Given the description of an element on the screen output the (x, y) to click on. 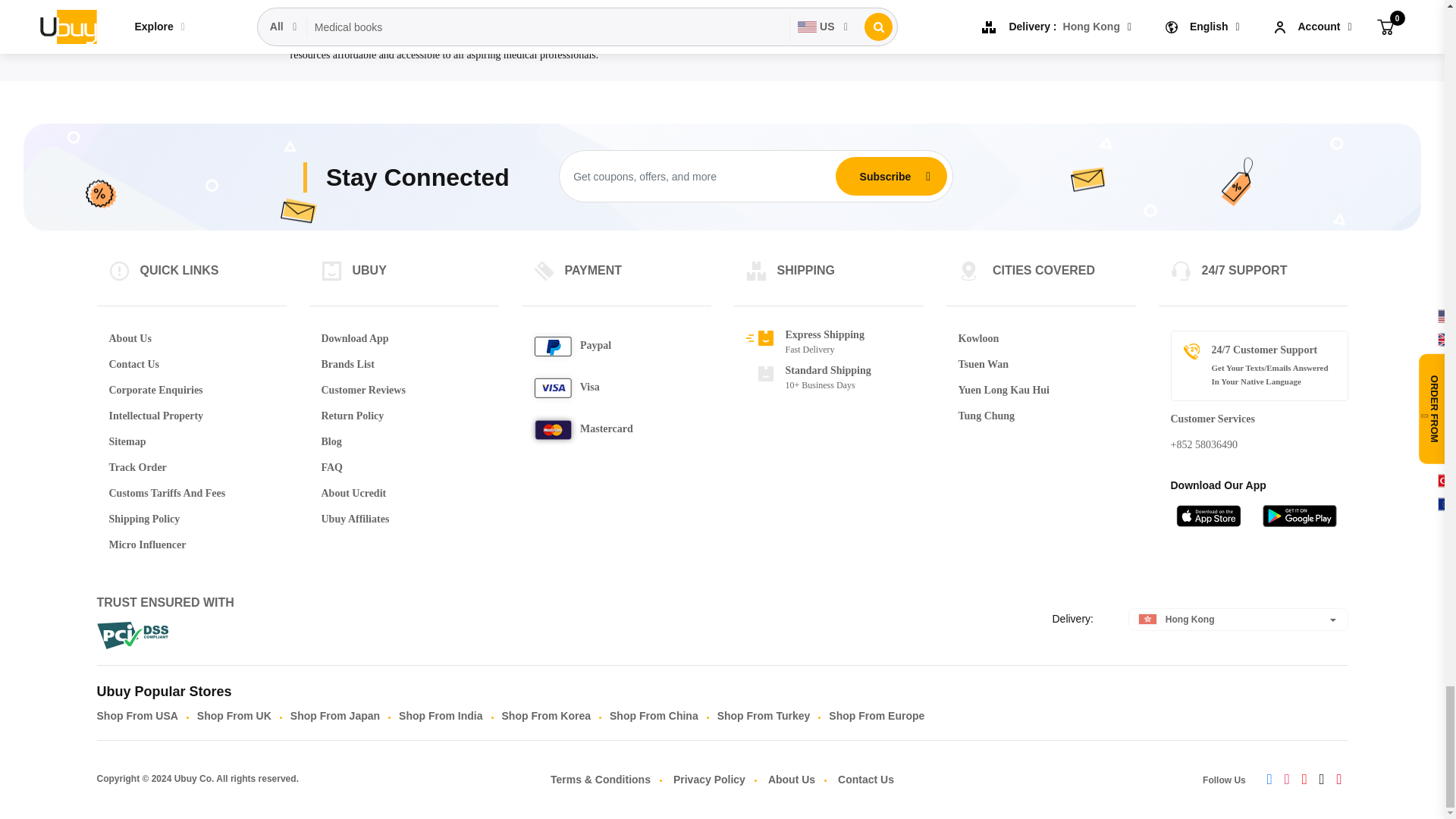
Subscribe (885, 175)
